Given the description of an element on the screen output the (x, y) to click on. 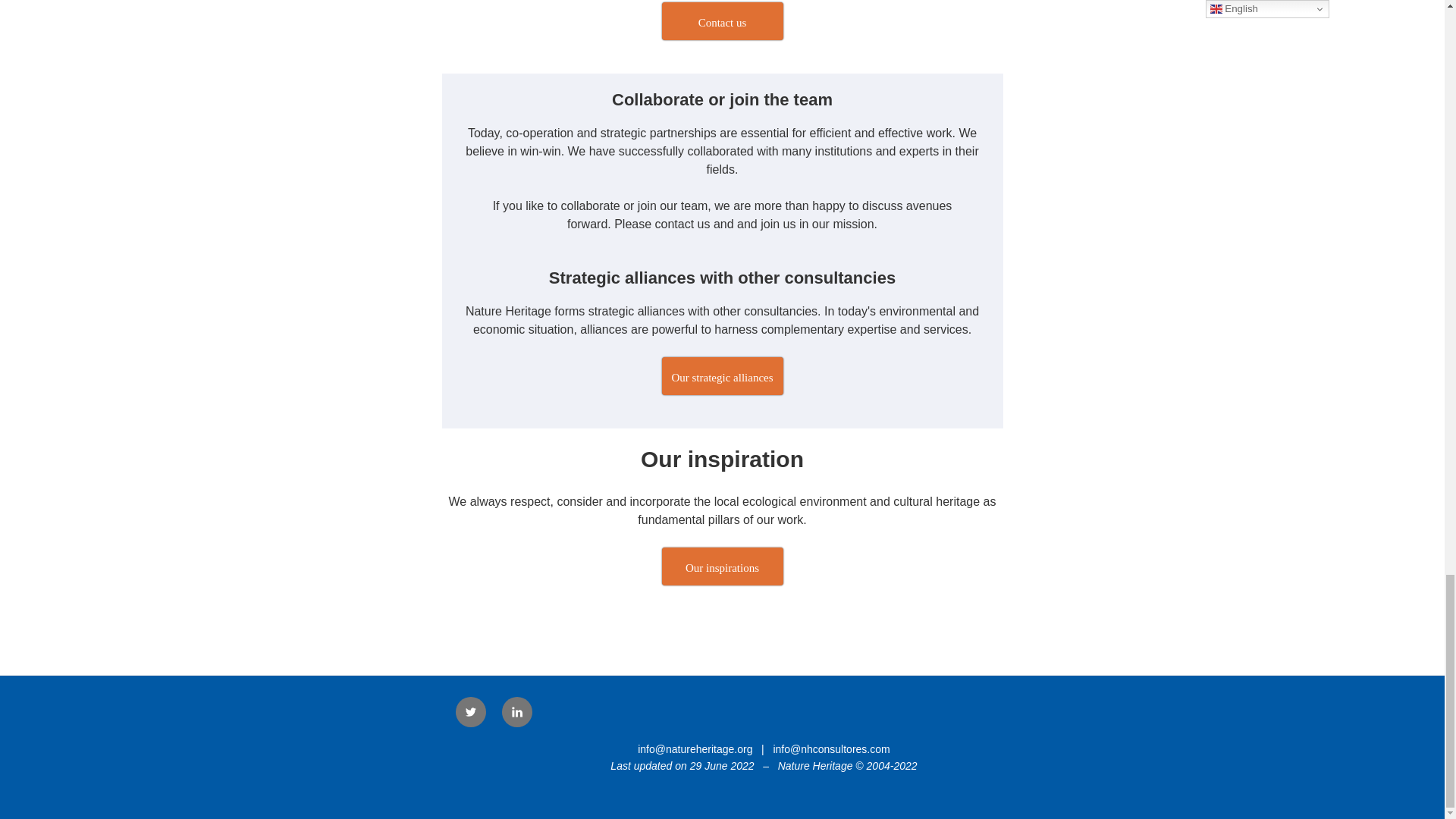
INSPIRATIONS (722, 566)
Alliances (722, 375)
CONTACT US (722, 21)
